Given the description of an element on the screen output the (x, y) to click on. 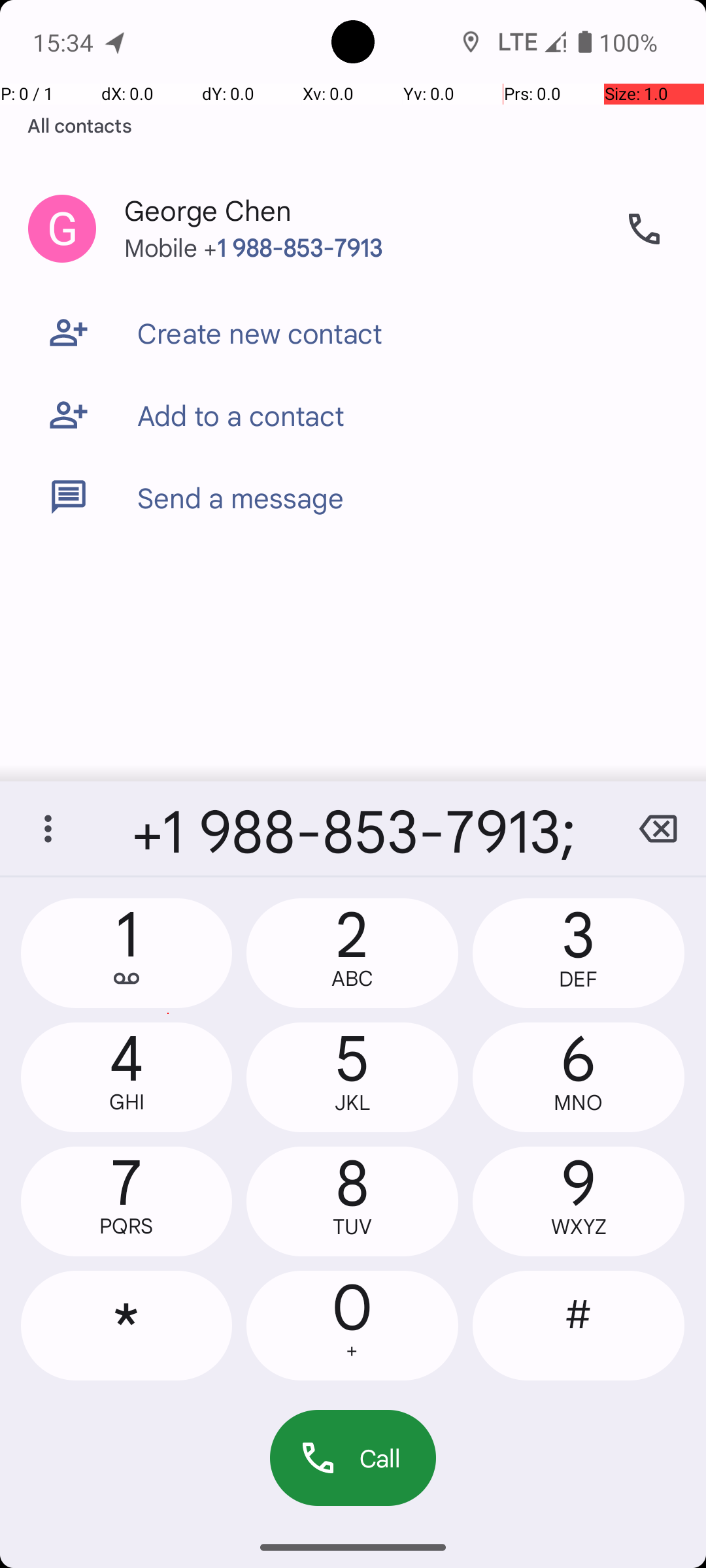
+1 988-853-7913; Element type: android.widget.EditText (352, 828)
All contacts Element type: android.widget.TextView (79, 124)
Quick contact for George Chen Element type: android.widget.QuickContactBadge (62, 228)
George Chen Element type: android.widget.TextView (360, 197)
Mobile ‪+1 988-853-7913‬ Element type: android.widget.TextView (360, 260)
